Given the description of an element on the screen output the (x, y) to click on. 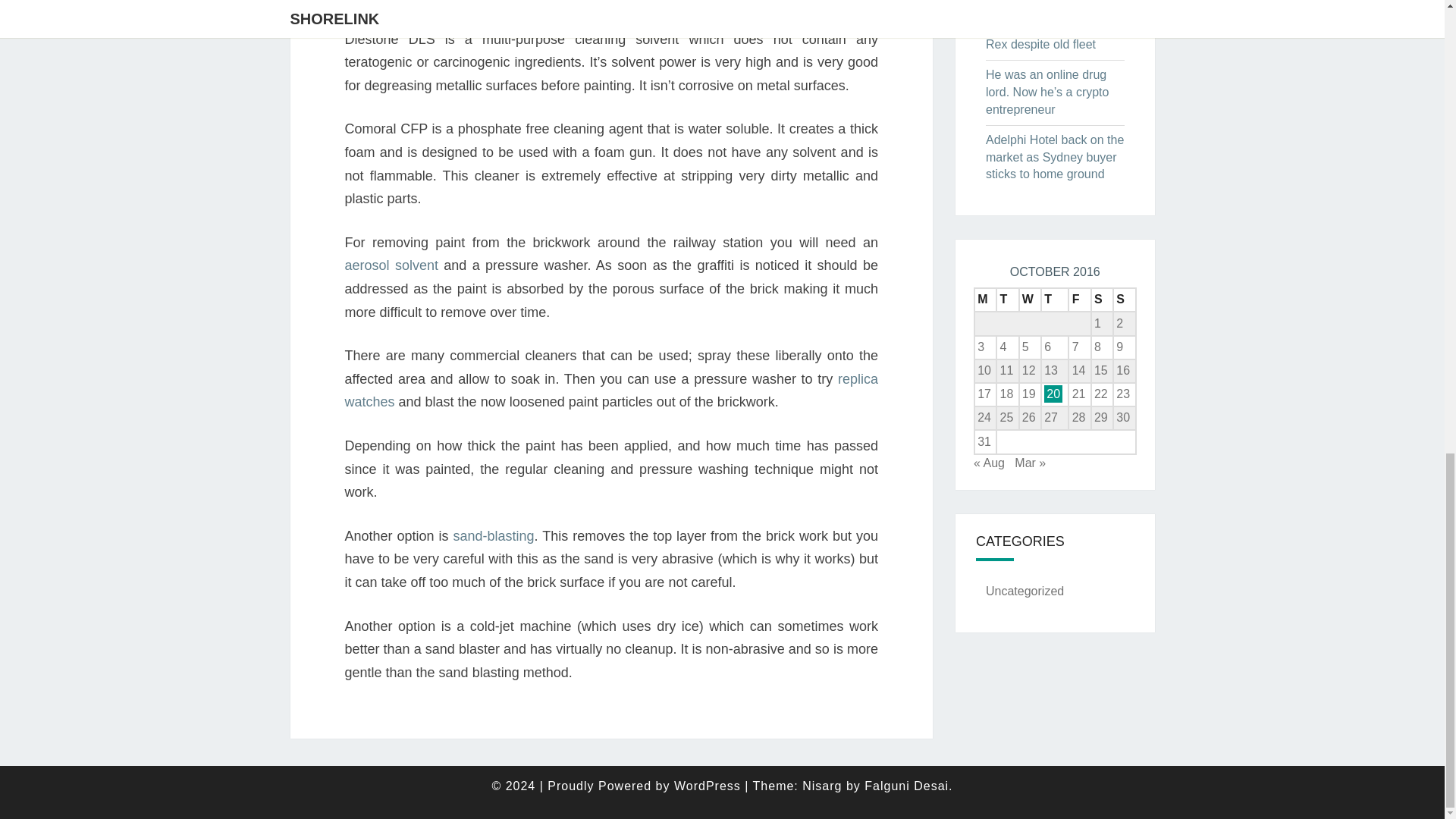
aerosol solvent (390, 264)
Friday (1079, 300)
20 (1052, 393)
Wednesday (1030, 300)
Falguni Desai (906, 785)
Saturday (1101, 300)
WordPress (707, 785)
Tuesday (1006, 300)
Monday (984, 300)
replica watches (610, 390)
Sunday (1124, 300)
Thursday (1054, 300)
sand-blasting (493, 535)
Uncategorized (1024, 590)
